Given the description of an element on the screen output the (x, y) to click on. 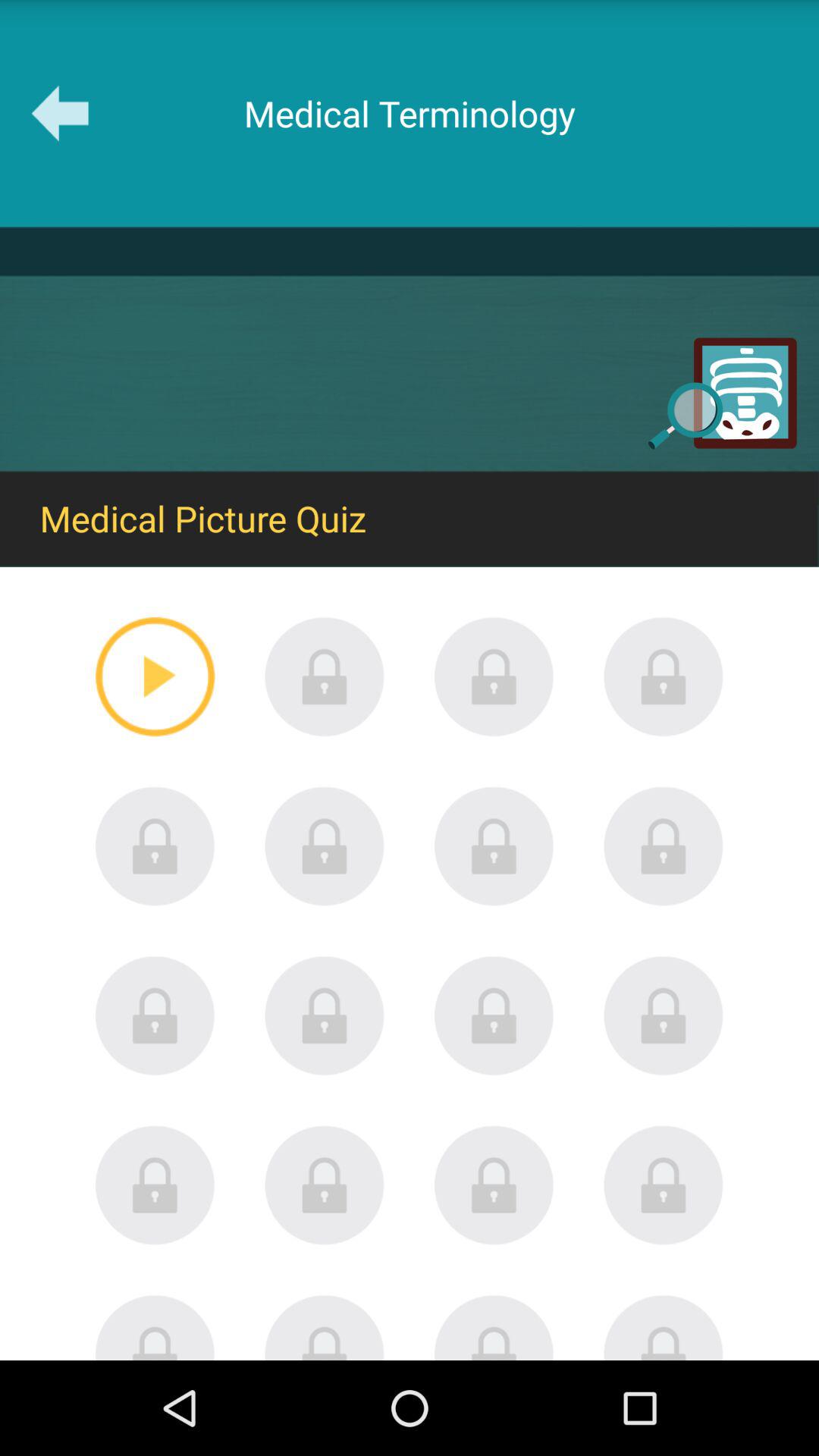
open quiz 18 (324, 1327)
